Given the description of an element on the screen output the (x, y) to click on. 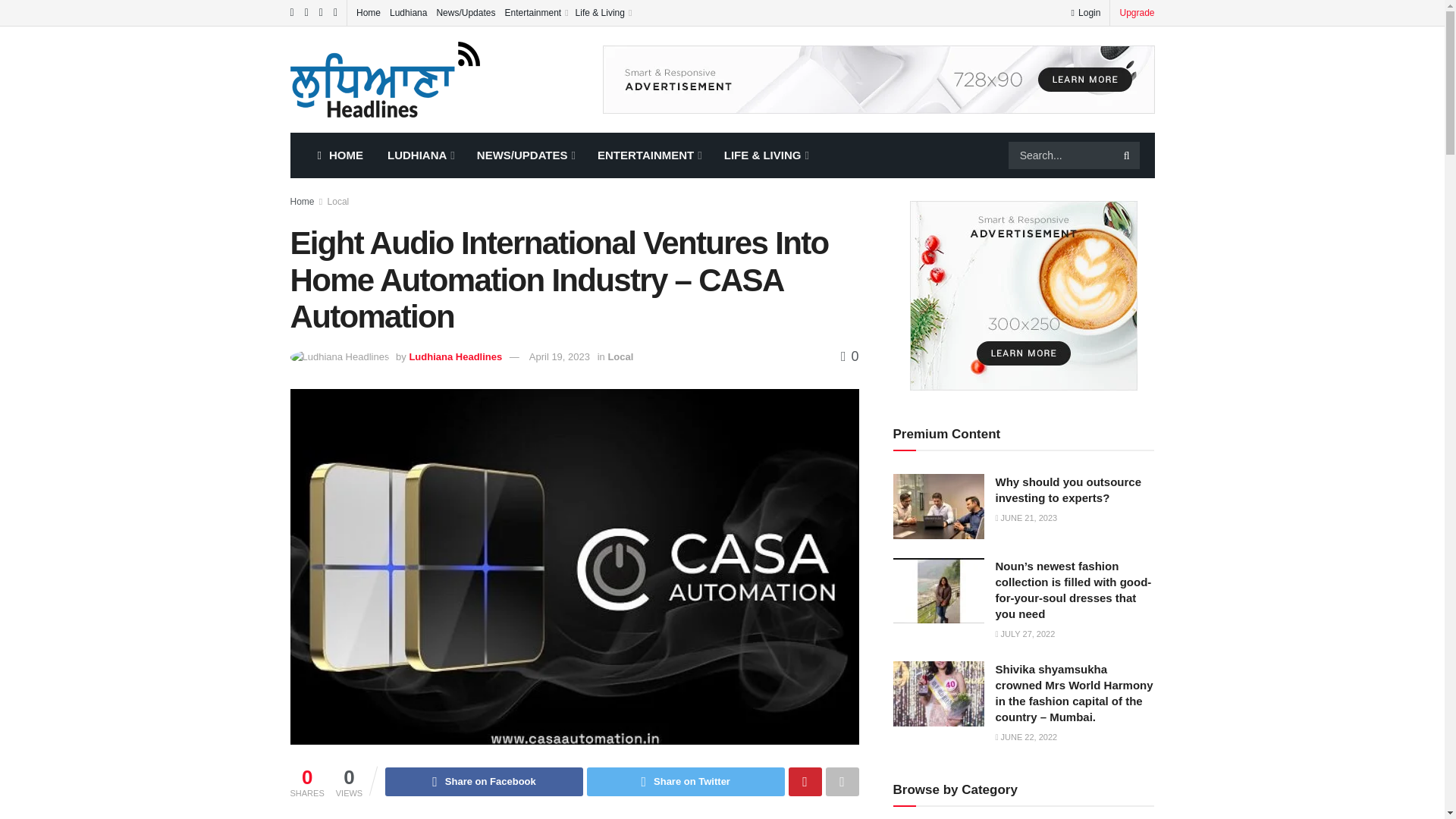
Home (368, 12)
Entertainment (534, 12)
HOME (339, 155)
Upgrade (1136, 12)
LUDHIANA (419, 155)
Ludhiana (408, 12)
Login (1085, 12)
